Given the description of an element on the screen output the (x, y) to click on. 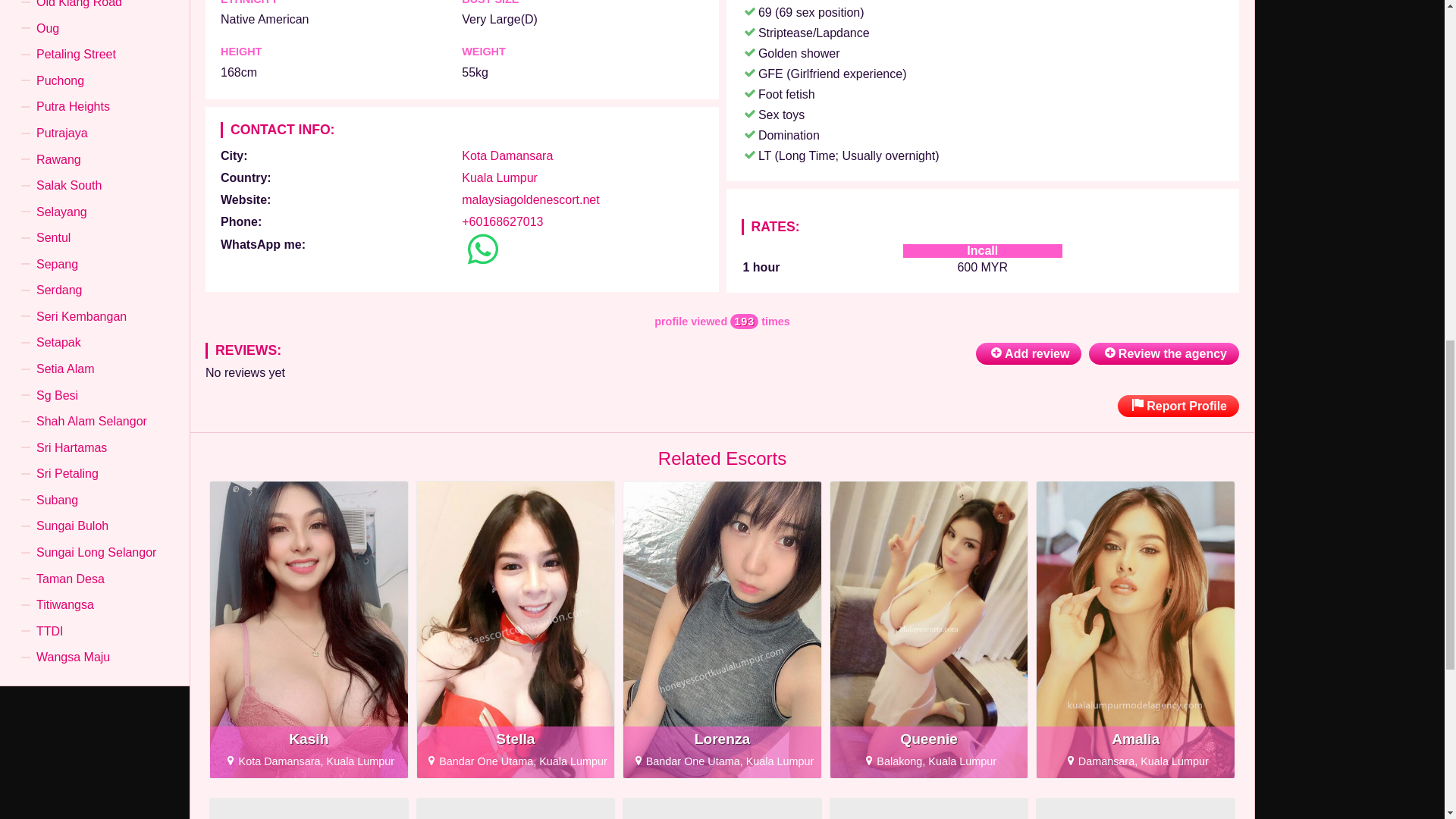
malaysiagoldenescort.net (928, 629)
Kasih (529, 199)
Amalia (1135, 629)
Tina (309, 739)
Review the agency (1135, 629)
Kota Damansara (308, 808)
Queenie (1164, 353)
Kasih (507, 155)
Queenie (928, 629)
Kuala Lumpur (308, 629)
